Given the description of an element on the screen output the (x, y) to click on. 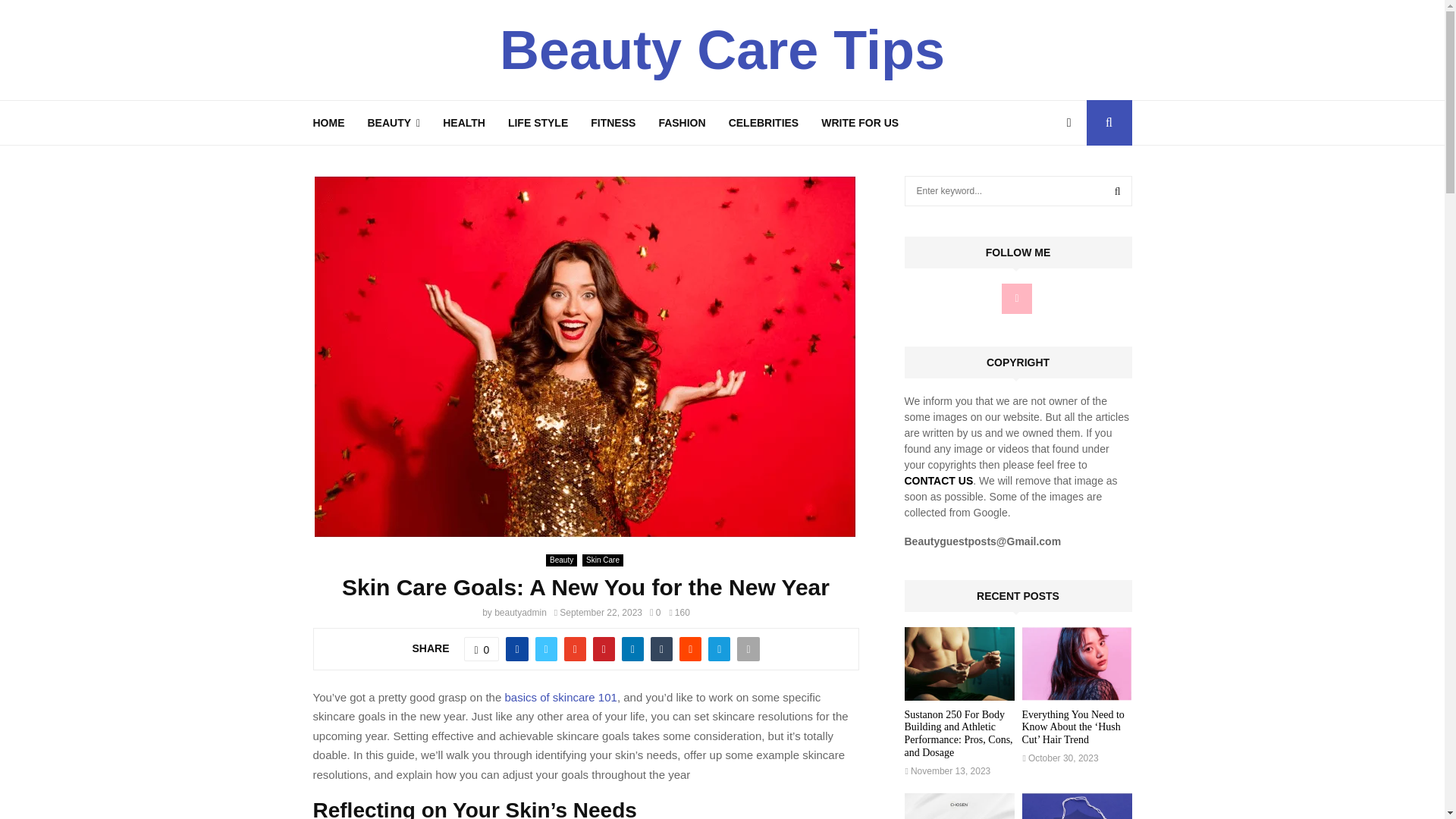
basics of skincare 101 (559, 696)
Skin Care (602, 560)
0 (655, 612)
beautyadmin (521, 612)
0 (481, 648)
Like (481, 648)
WRITE FOR US (859, 122)
CELEBRITIES (764, 122)
FITNESS (612, 122)
BEAUTY (393, 122)
